Given the description of an element on the screen output the (x, y) to click on. 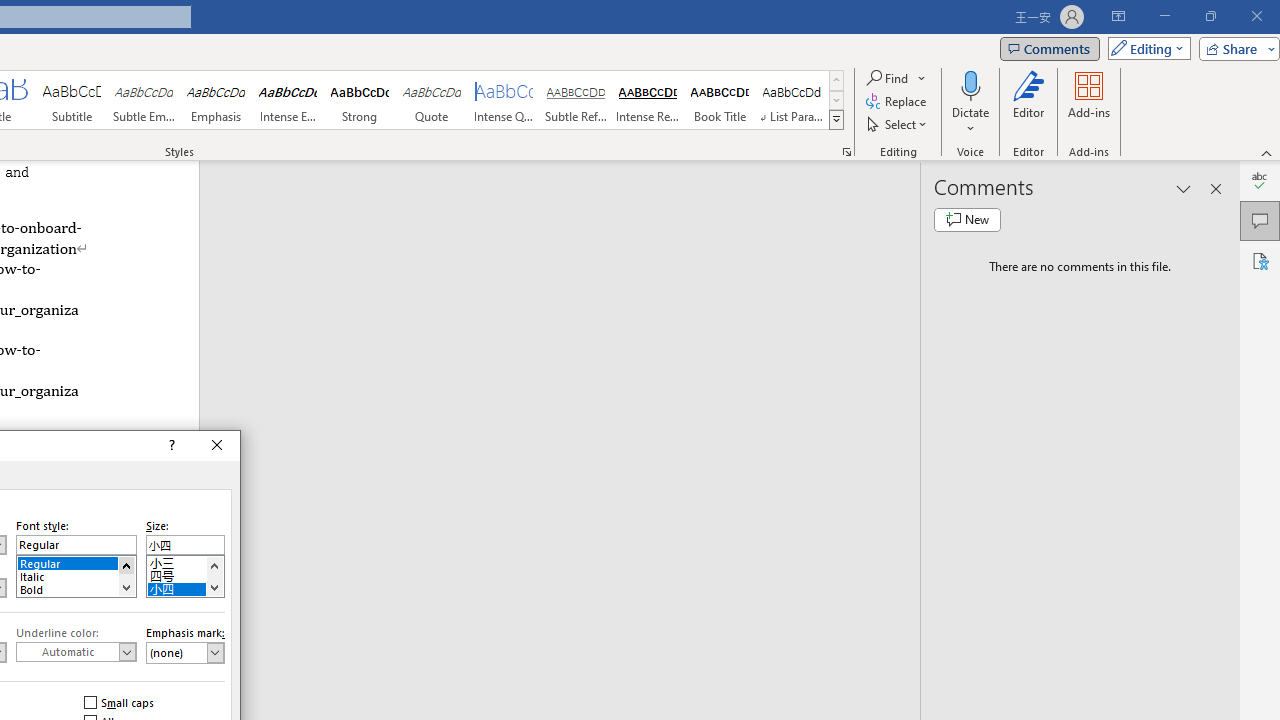
Intense Reference (647, 100)
Book Title (719, 100)
AutomationID: 1795 (125, 576)
Italic (75, 574)
